Given the description of an element on the screen output the (x, y) to click on. 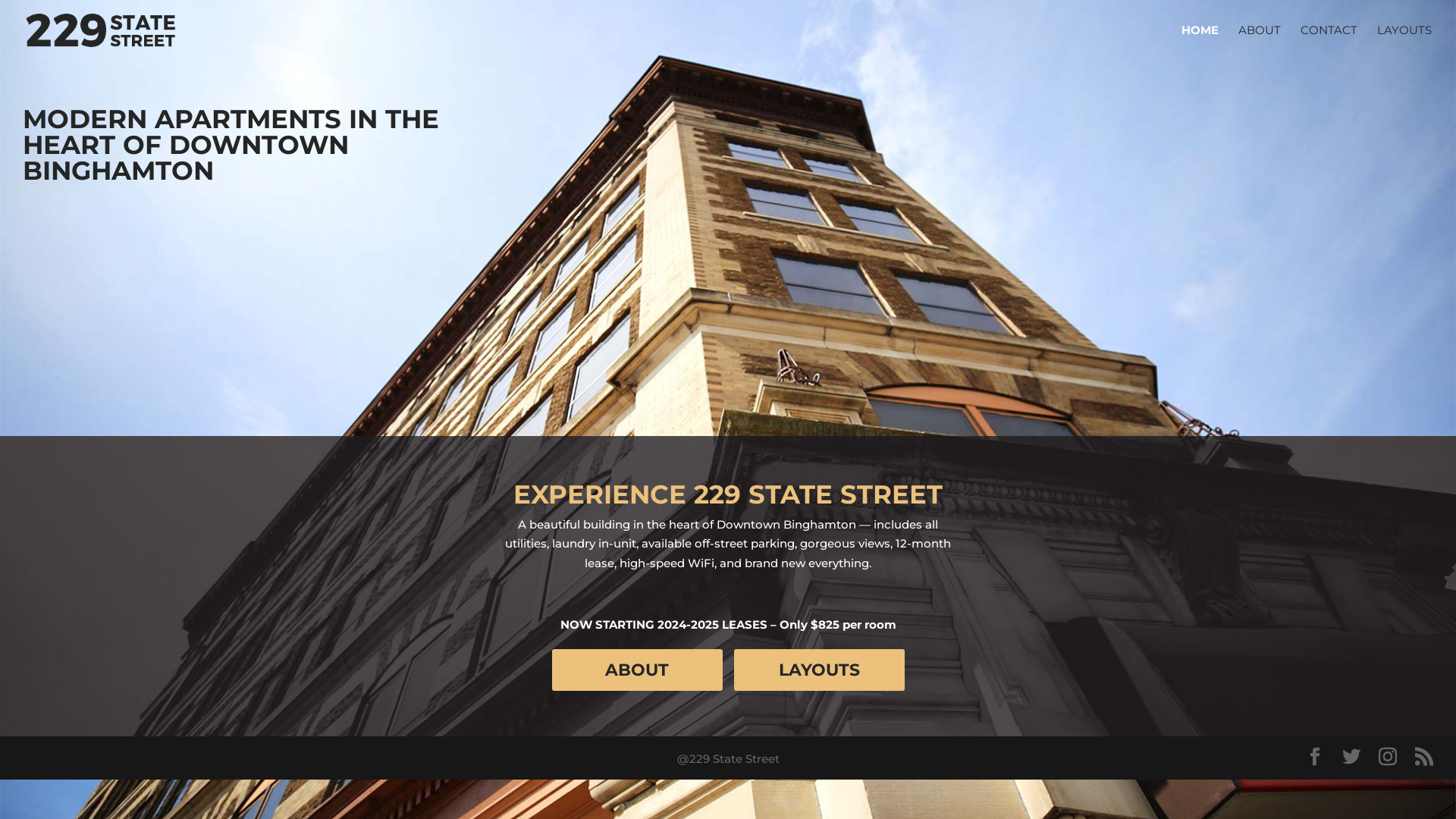
HOME Element type: text (1199, 42)
LAYOUTS Element type: text (819, 669)
ABOUT Element type: text (637, 669)
ABOUT Element type: text (1259, 42)
CONTACT Element type: text (1328, 42)
LAYOUTS Element type: text (1404, 42)
